Given the description of an element on the screen output the (x, y) to click on. 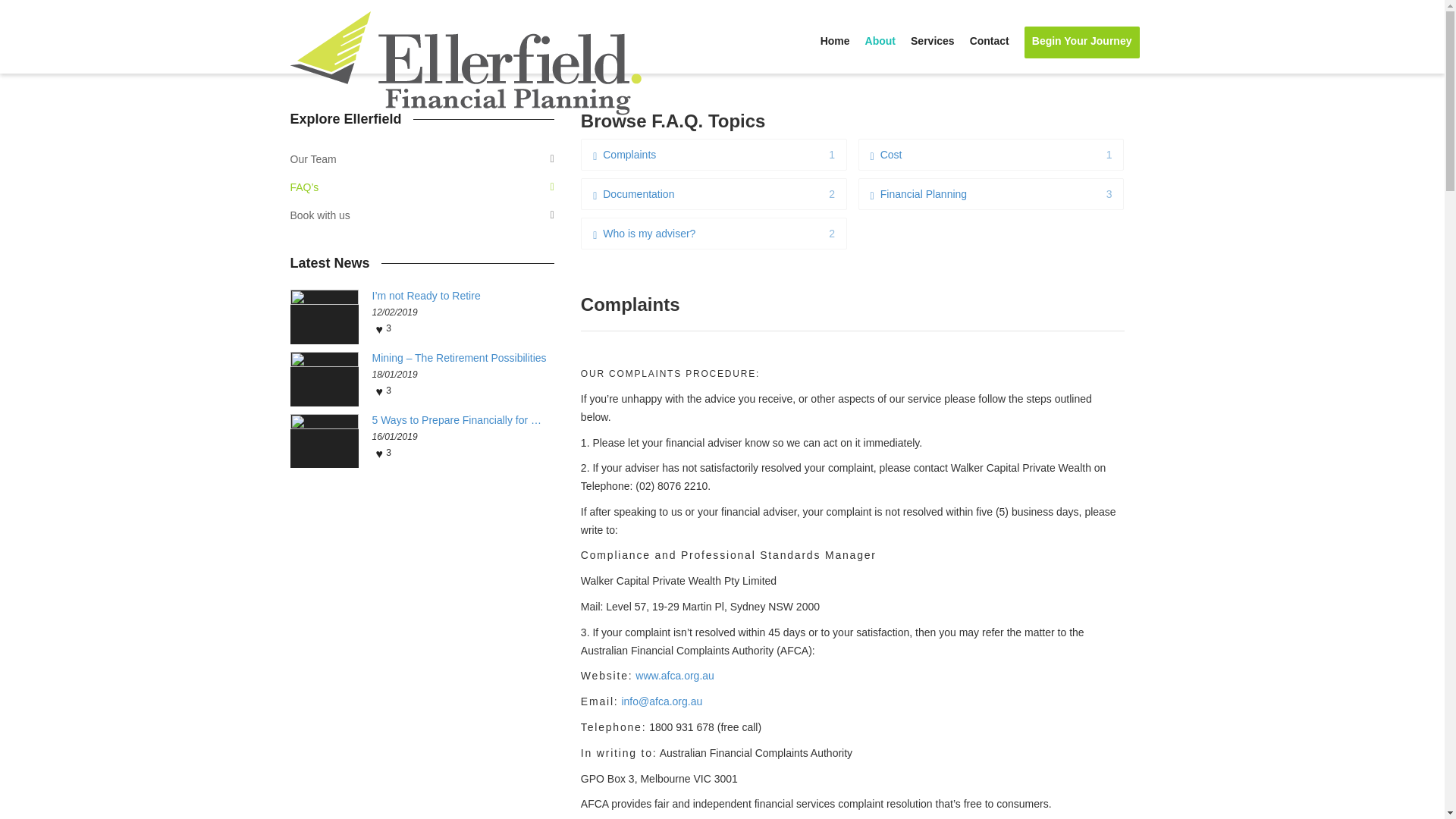
Home (919, 193)
Services (886, 154)
About (835, 42)
www.afca.org.au (933, 42)
Begin Your Journey (879, 42)
